Given the description of an element on the screen output the (x, y) to click on. 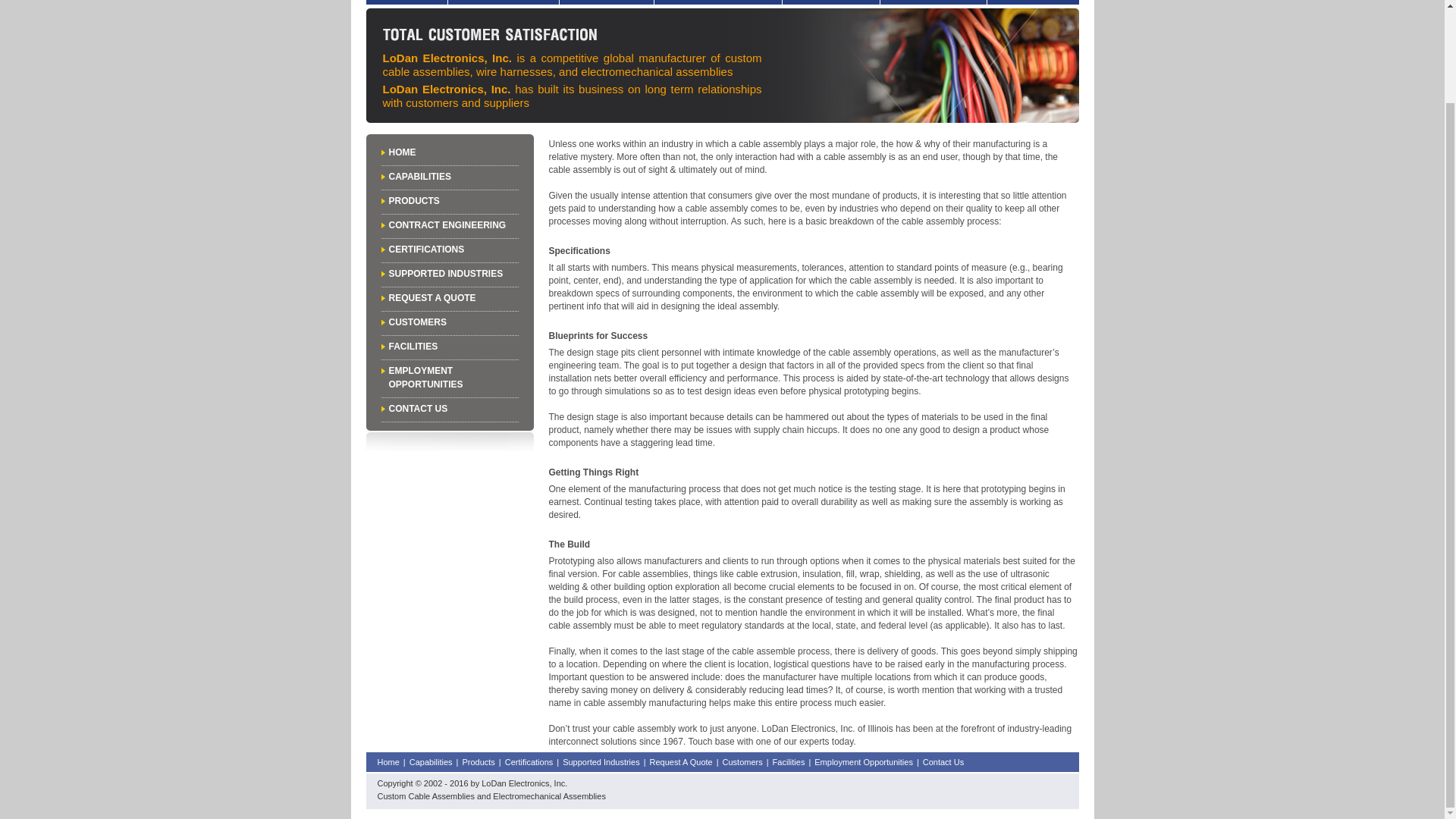
Capabilities (501, 2)
Contact (932, 2)
Capabilities (430, 762)
Home (405, 2)
FACILITIES (413, 346)
Products (606, 2)
CAPABILITIES (418, 176)
HOME (401, 152)
Contact Us (943, 762)
CONTRACT ENGINEERING (446, 225)
Supported Industries (601, 762)
Request A Quote (681, 762)
REQUEST A QUOTE (432, 297)
Contract Engineering (716, 2)
SUPPORTED INDUSTRIES (445, 273)
